Given the description of an element on the screen output the (x, y) to click on. 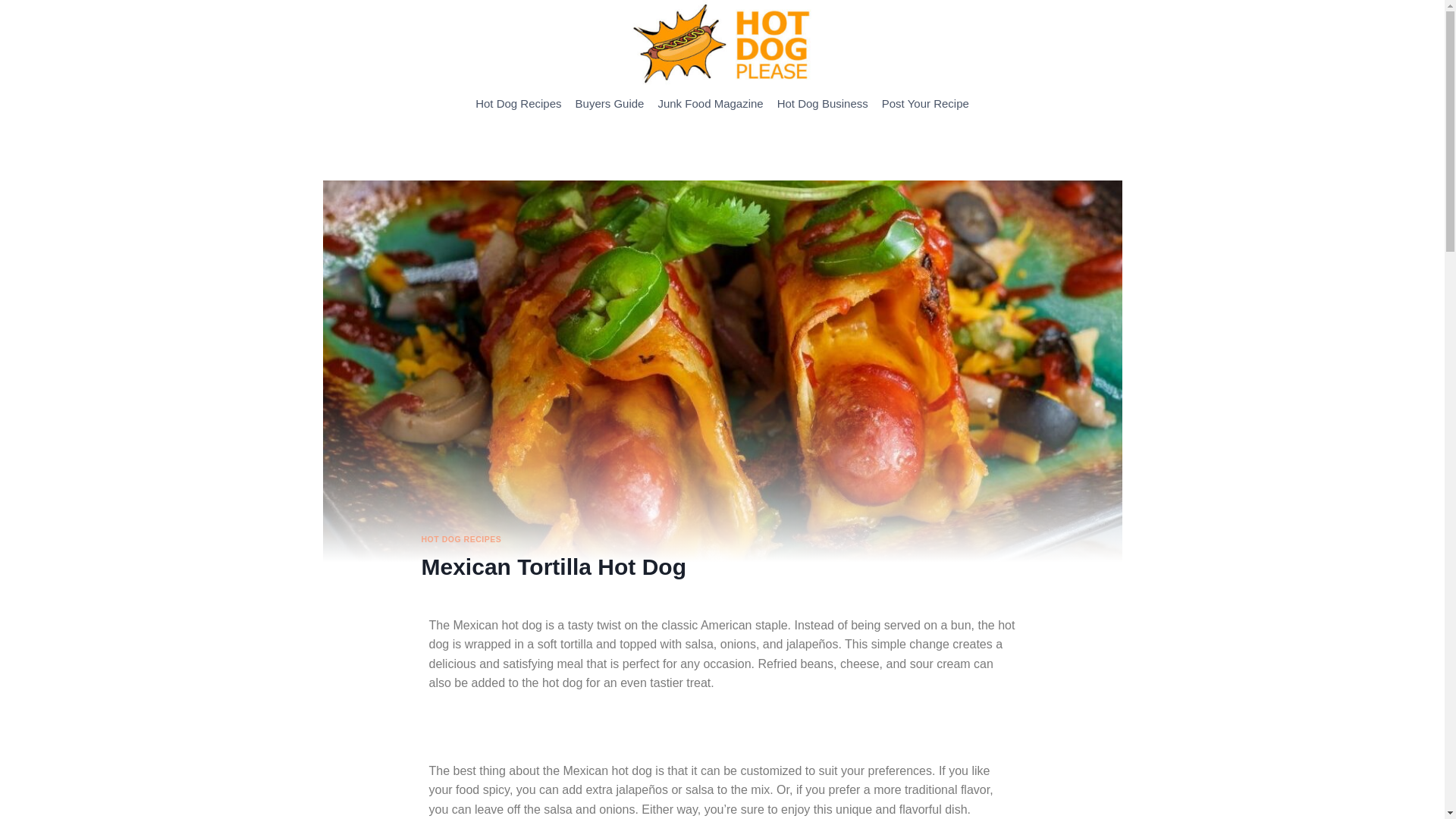
Junk Food Magazine (710, 103)
Hot Dog Recipes (517, 103)
Hot Dog Business (822, 103)
Post Your Recipe (925, 103)
HOT DOG RECIPES (462, 538)
Buyers Guide (609, 103)
